Given the description of an element on the screen output the (x, y) to click on. 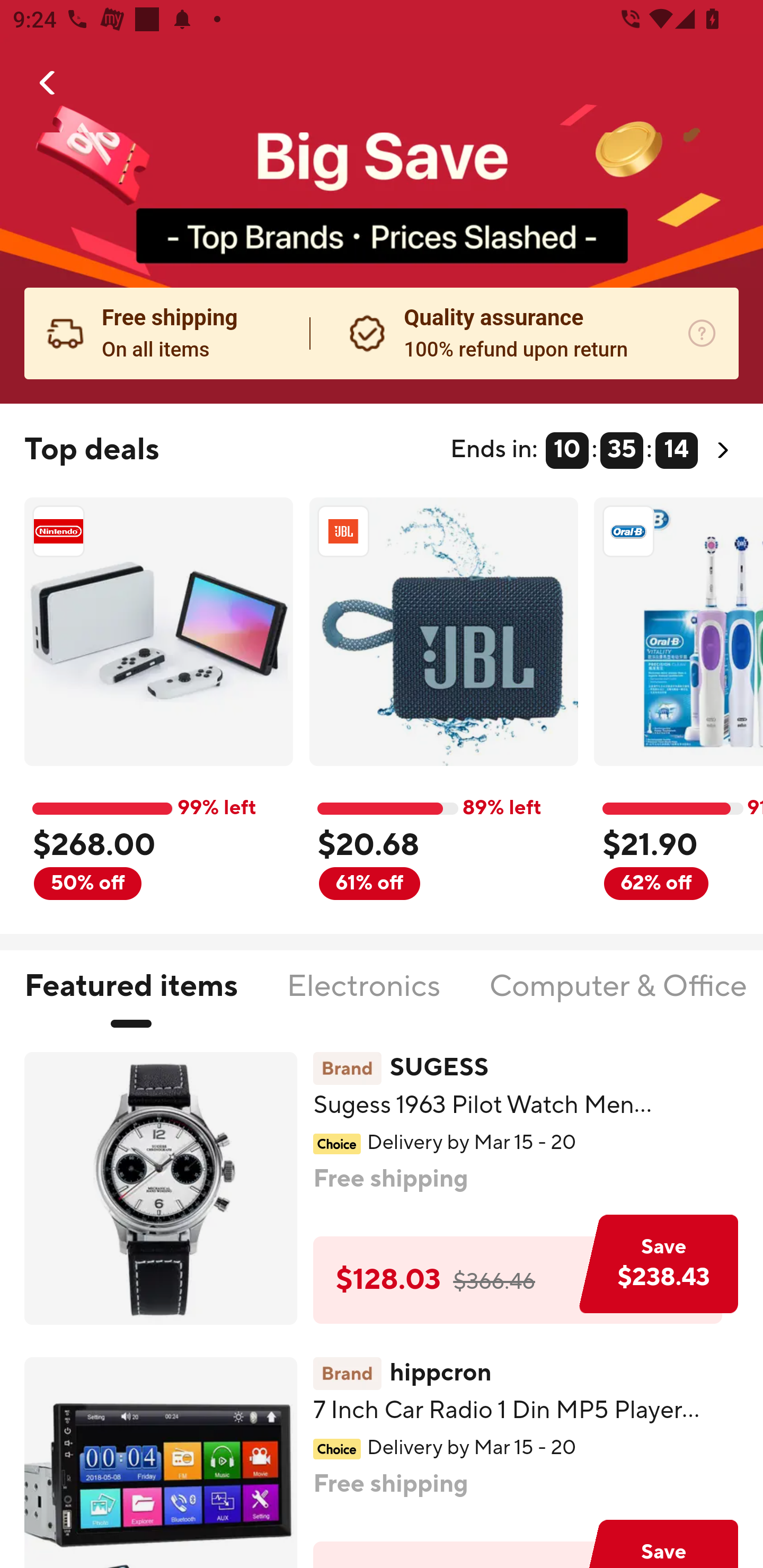
 (48, 82)
Featured items (130, 996)
Electronics (363, 996)
Computer & Office (617, 996)
